Given the description of an element on the screen output the (x, y) to click on. 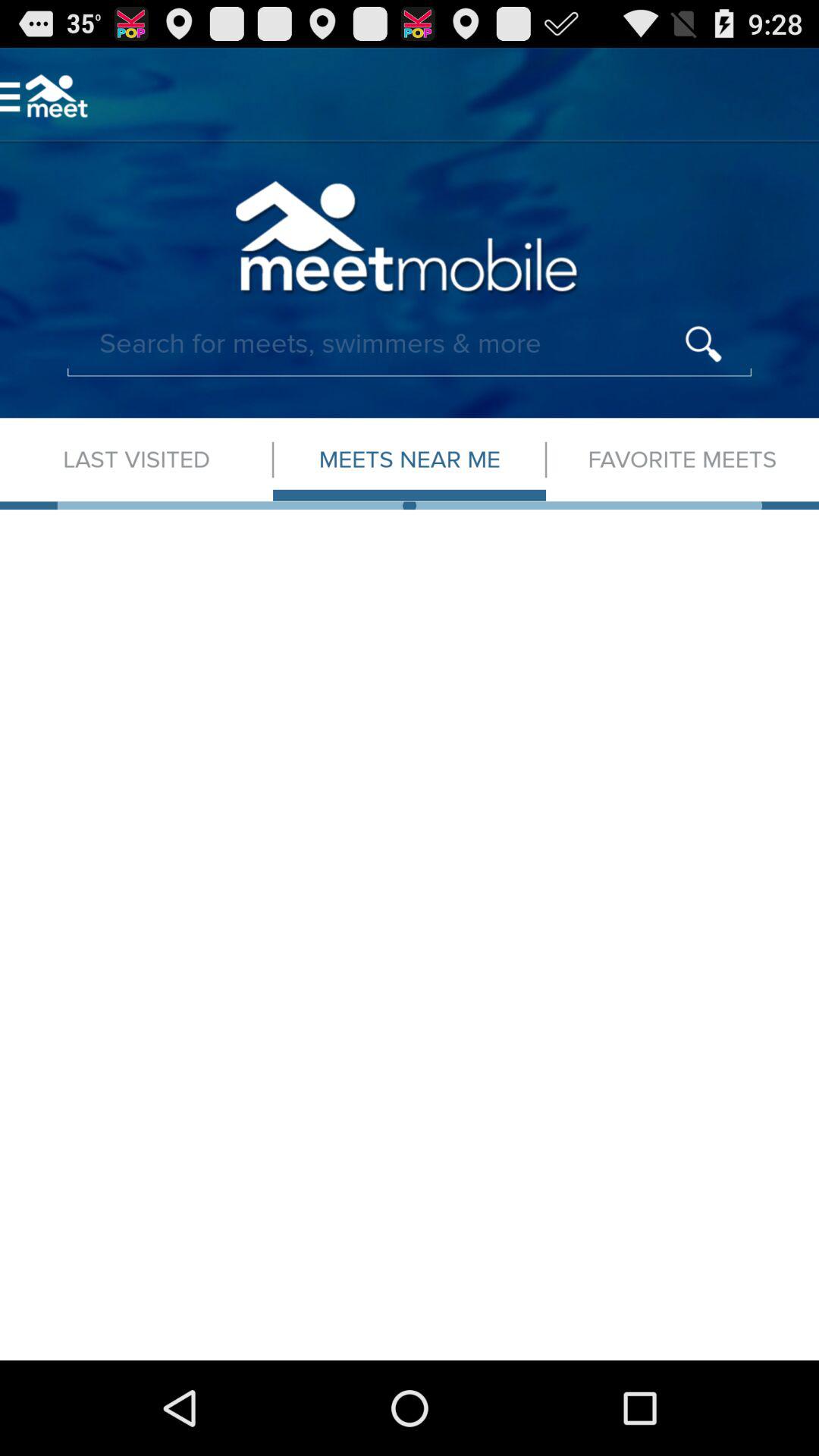
go to search (409, 344)
